Given the description of an element on the screen output the (x, y) to click on. 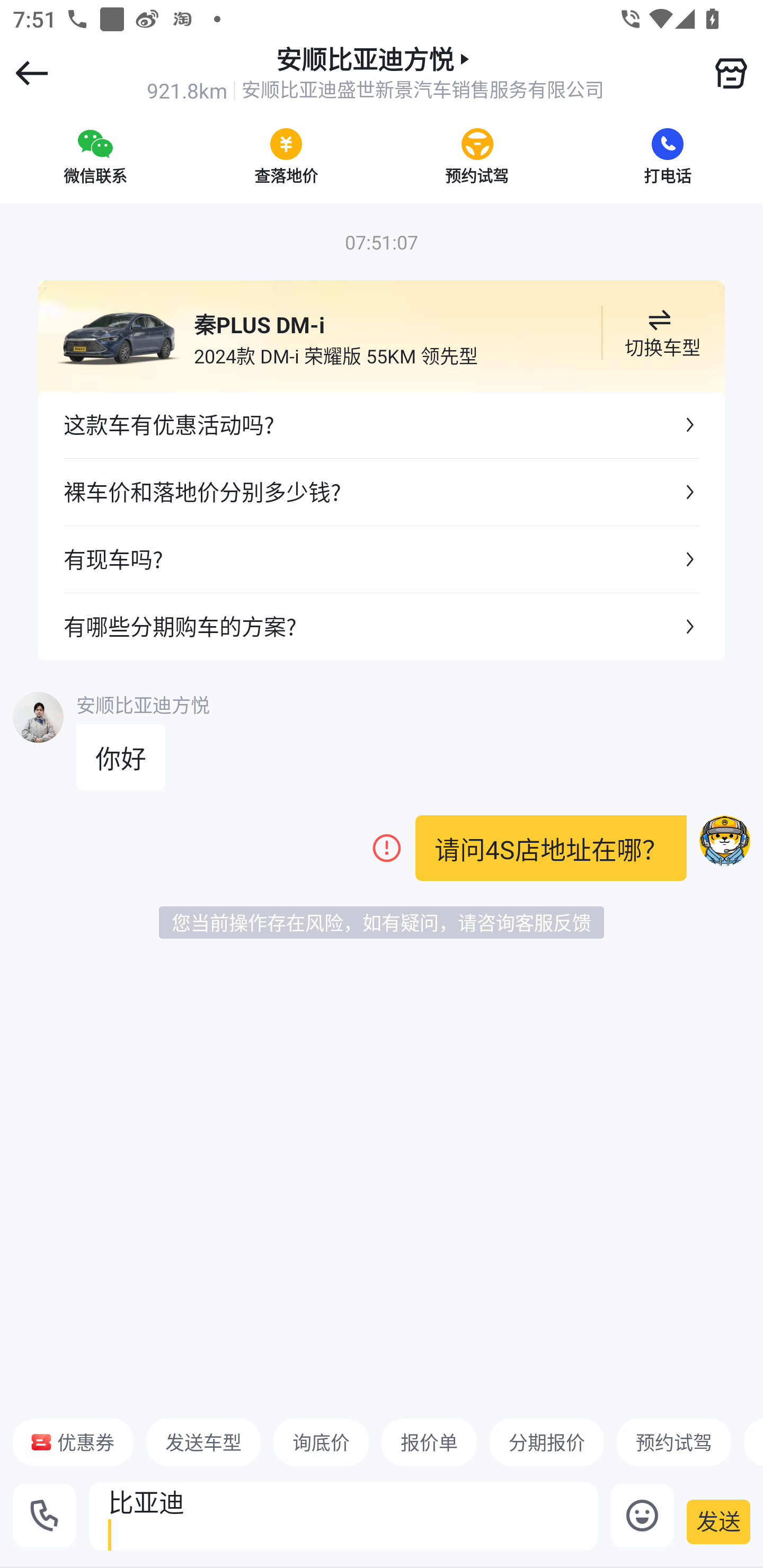
安顺比亚迪方悦 921.8km 安顺比亚迪盛世新景汽车销售服务有限公司 (374, 73)
 (730, 73)
微信联系 (95, 155)
查落地价 (285, 155)
预约试驾 (476, 155)
打电话 (667, 155)
切换车型 (659, 332)
这款车有优惠活动吗? (381, 424)
裸车价和落地价分别多少钱? (381, 492)
有现车吗? (381, 558)
有哪些分期购车的方案? (381, 626)
你好 (120, 757)
请问4S店地址在哪？ (550, 848)
优惠券 (72, 1442)
发送车型 (203, 1442)
询底价 (320, 1442)
报价单 (428, 1442)
分期报价 (546, 1442)
预约试驾 (673, 1442)
比亚迪
 (343, 1515)
发送 (718, 1521)
